Given the description of an element on the screen output the (x, y) to click on. 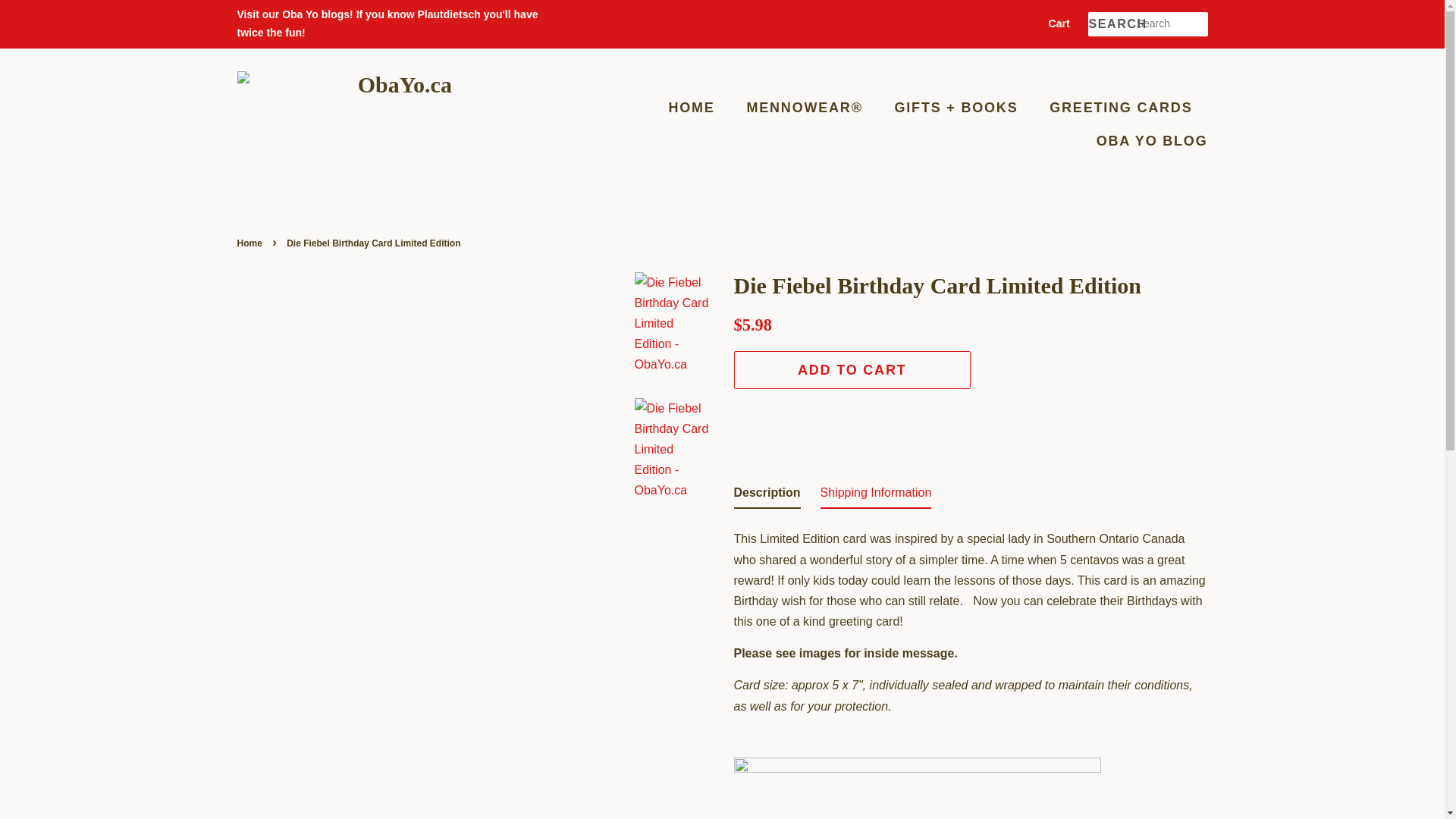
Back to the frontpage (249, 243)
SEARCH (1111, 24)
Cart (1059, 24)
